Given the description of an element on the screen output the (x, y) to click on. 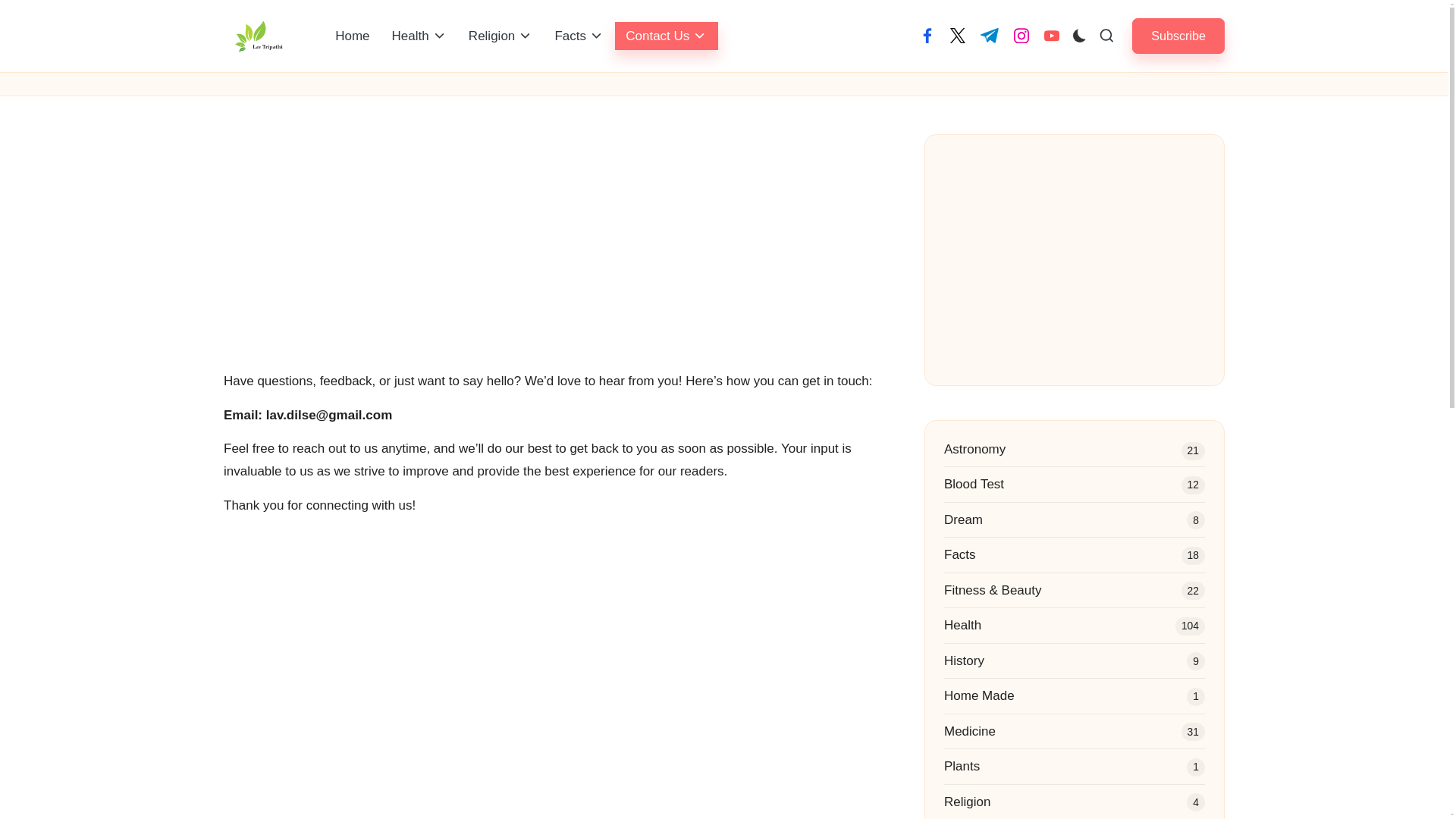
Facts (578, 36)
Religion (500, 36)
Health (419, 36)
Home (352, 36)
